Given the description of an element on the screen output the (x, y) to click on. 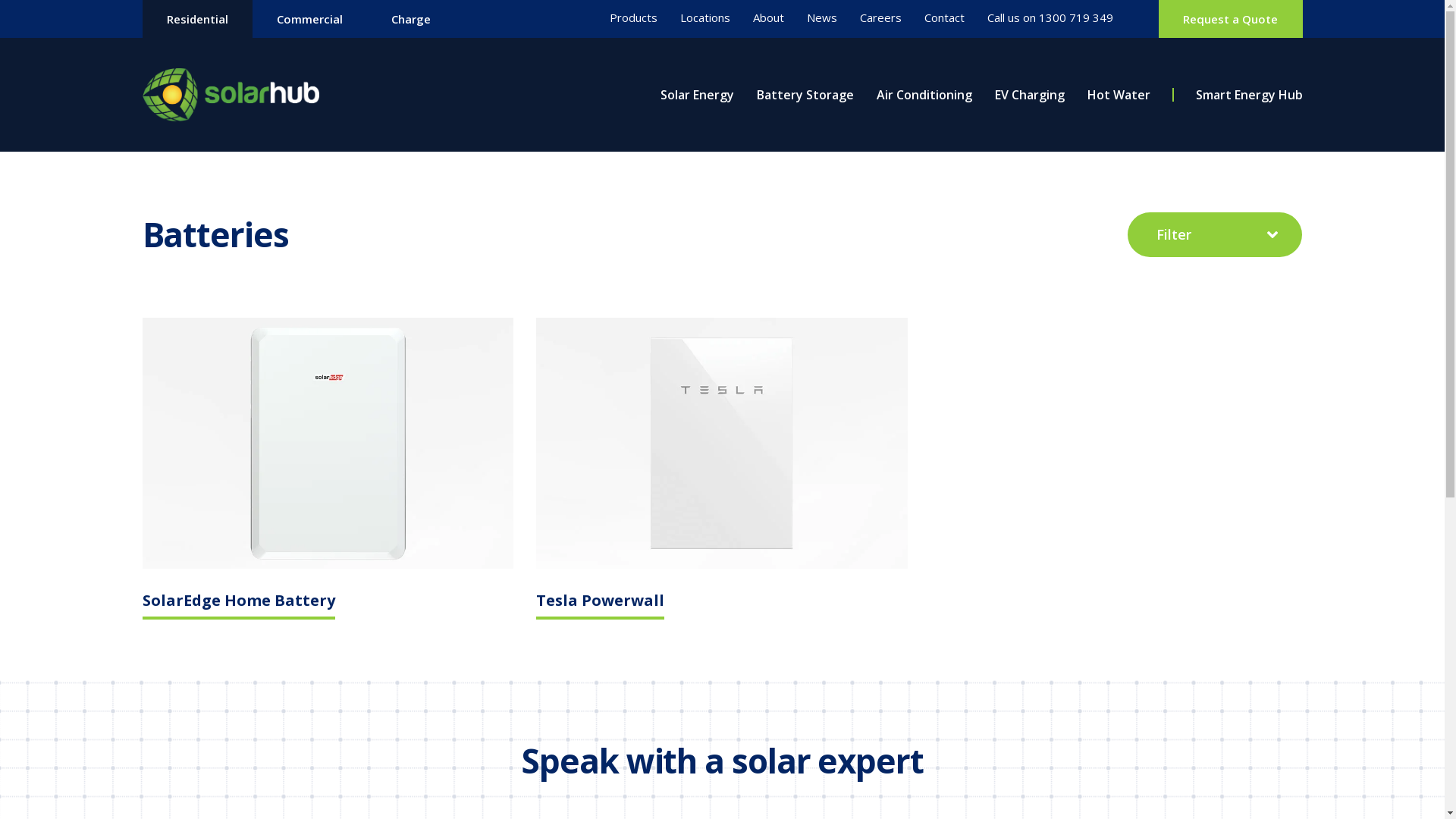
Charge Element type: text (411, 18)
About Element type: text (768, 17)
SolarEdge Home Battery Element type: text (238, 606)
Battery Storage Element type: text (804, 94)
Products Element type: text (633, 17)
EV Charging Element type: text (1029, 94)
Air Conditioning Element type: text (924, 94)
Contact Element type: text (944, 17)
Commercial Element type: text (309, 18)
Locations Element type: text (705, 17)
Smart Energy Hub Element type: text (1248, 94)
Call us on 1300 719 349 Element type: text (1050, 17)
Tesla Powerwall Element type: text (600, 606)
Solar Energy Element type: text (696, 94)
Careers Element type: text (880, 17)
SolarHub Element type: text (231, 94)
Residential Element type: text (197, 18)
Request a Quote Element type: text (1230, 18)
Hot Water Element type: text (1118, 94)
News Element type: text (821, 17)
